Given the description of an element on the screen output the (x, y) to click on. 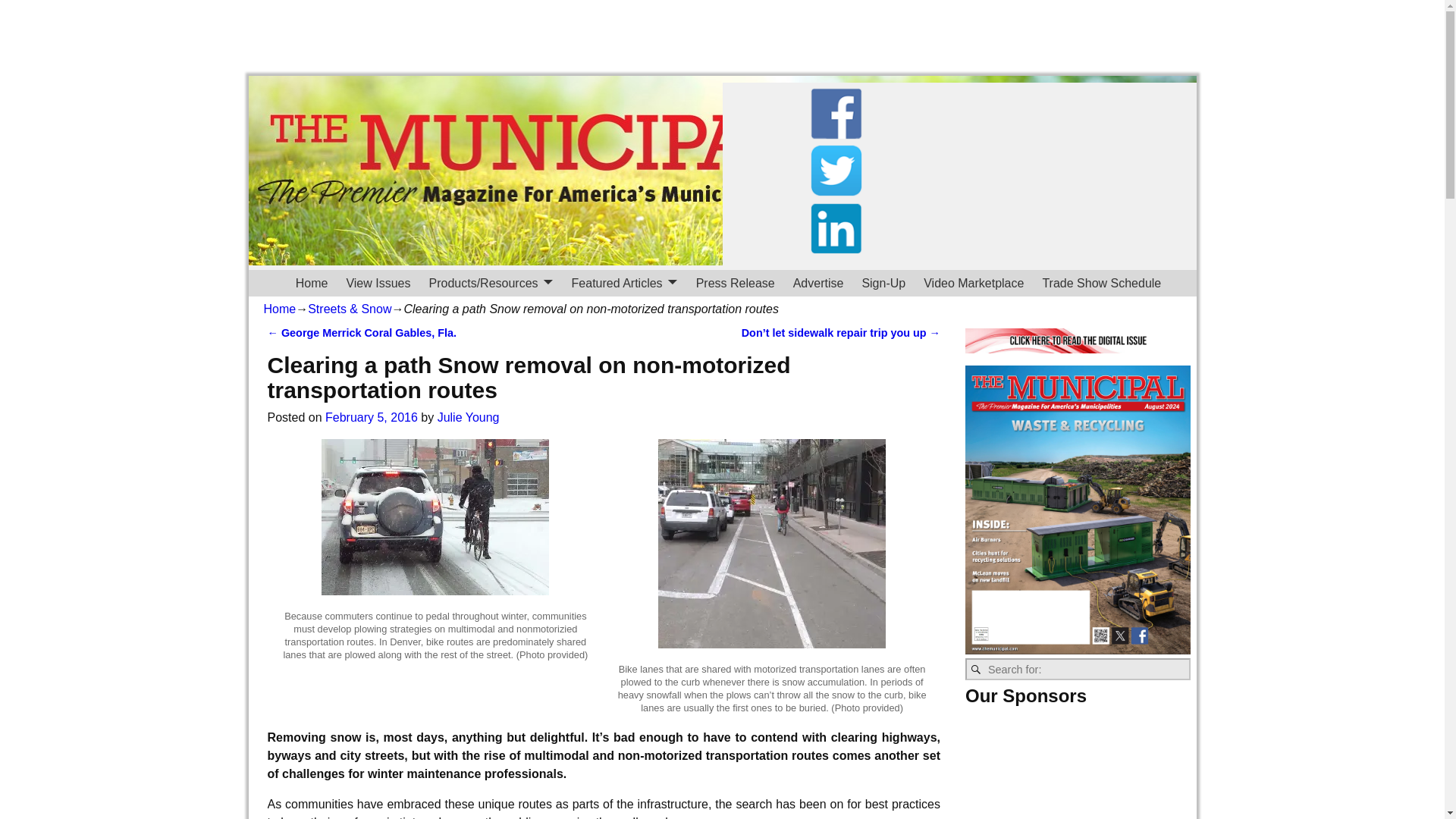
February 5, 2016 (370, 417)
Video Marketplace (973, 283)
7:03 am (370, 417)
View all posts by Julie Young (468, 417)
Advertise (818, 283)
Press Release (735, 283)
Sign-Up (882, 283)
Julie Young (468, 417)
Home (311, 283)
View Issues (377, 283)
